Given the description of an element on the screen output the (x, y) to click on. 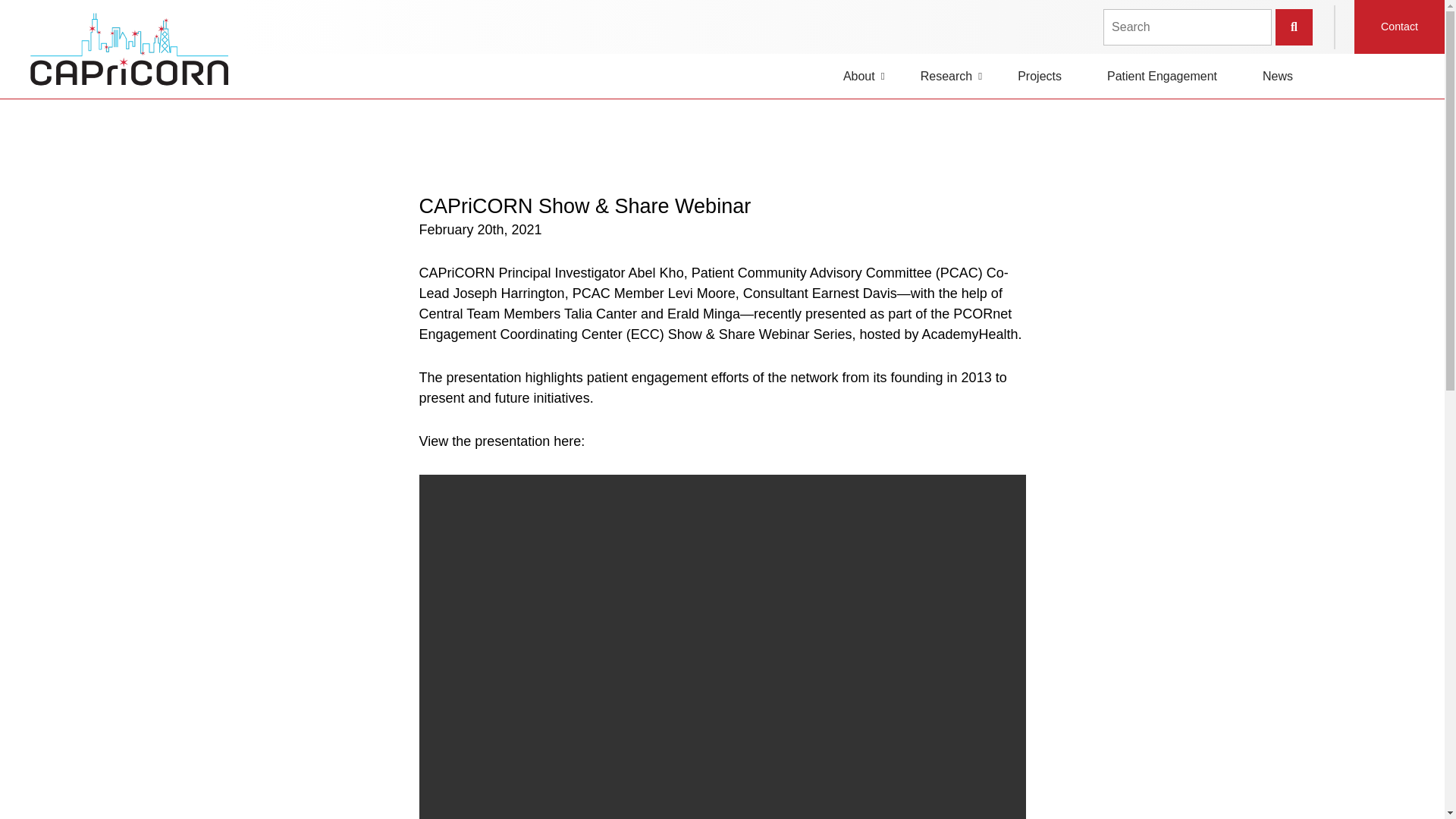
Projects (1039, 76)
About (859, 76)
News (1278, 76)
Research (946, 76)
CAPriCORN (120, 49)
Patient Engagement (1162, 76)
